Given the description of an element on the screen output the (x, y) to click on. 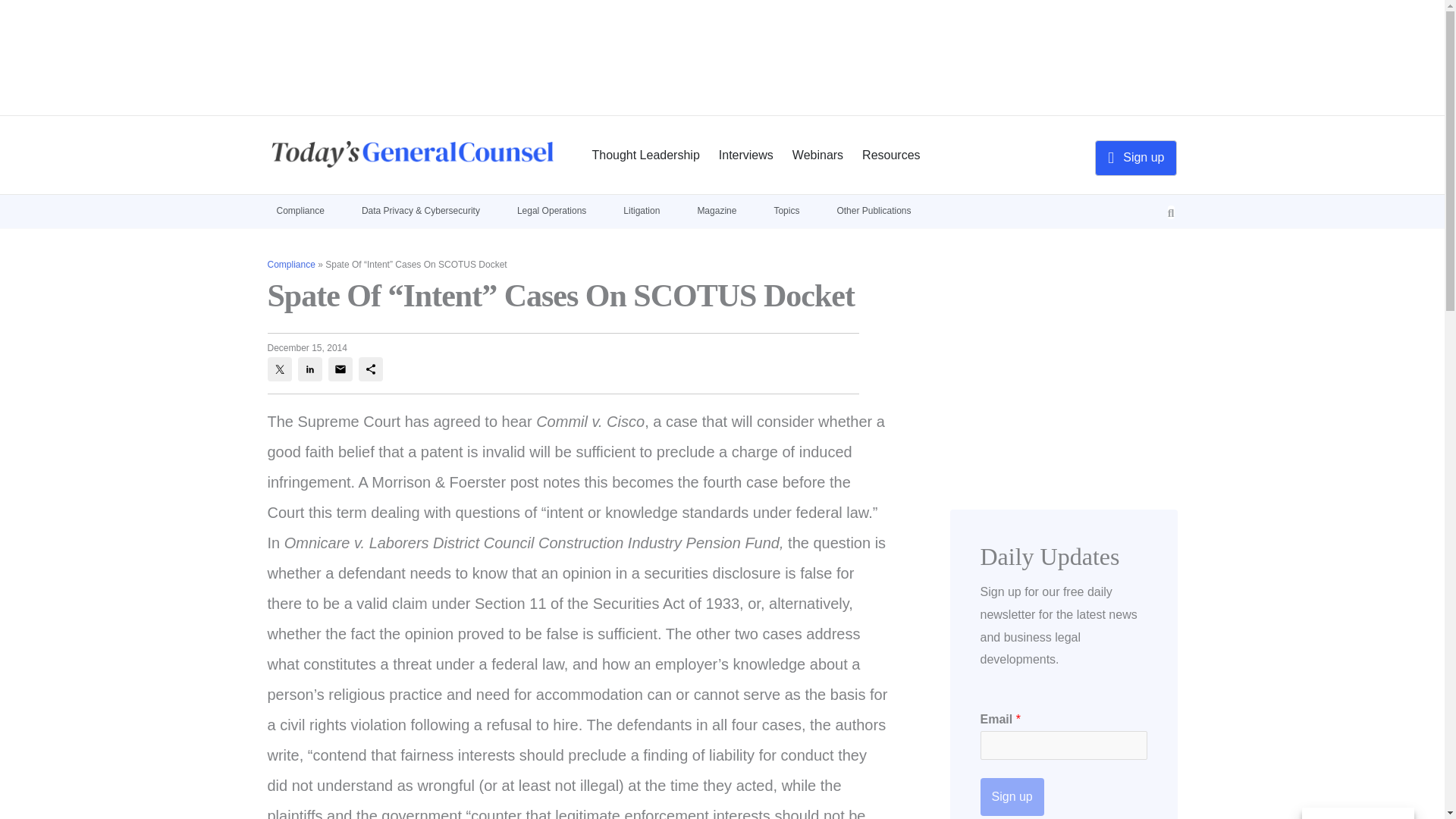
3rd party ad content (721, 69)
todays-general-counsel-logo (411, 154)
Webinars (817, 155)
Compliance (308, 209)
3rd party ad content (1062, 353)
Thought Leadership (644, 155)
Interviews (746, 155)
Compliance (290, 264)
Resources (890, 155)
Sign up (1135, 158)
